Given the description of an element on the screen output the (x, y) to click on. 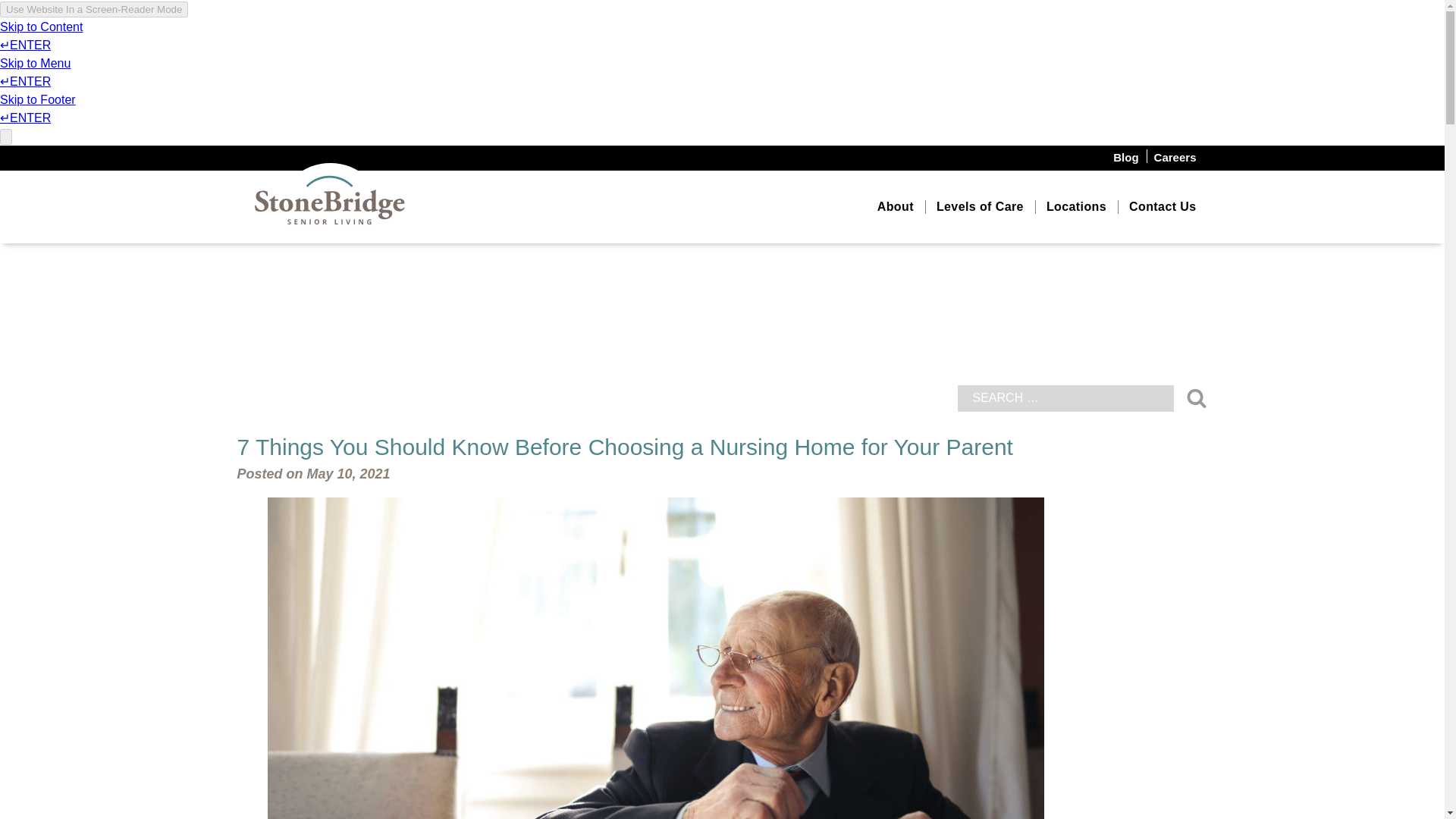
Search (1196, 397)
Search (1196, 397)
